Given the description of an element on the screen output the (x, y) to click on. 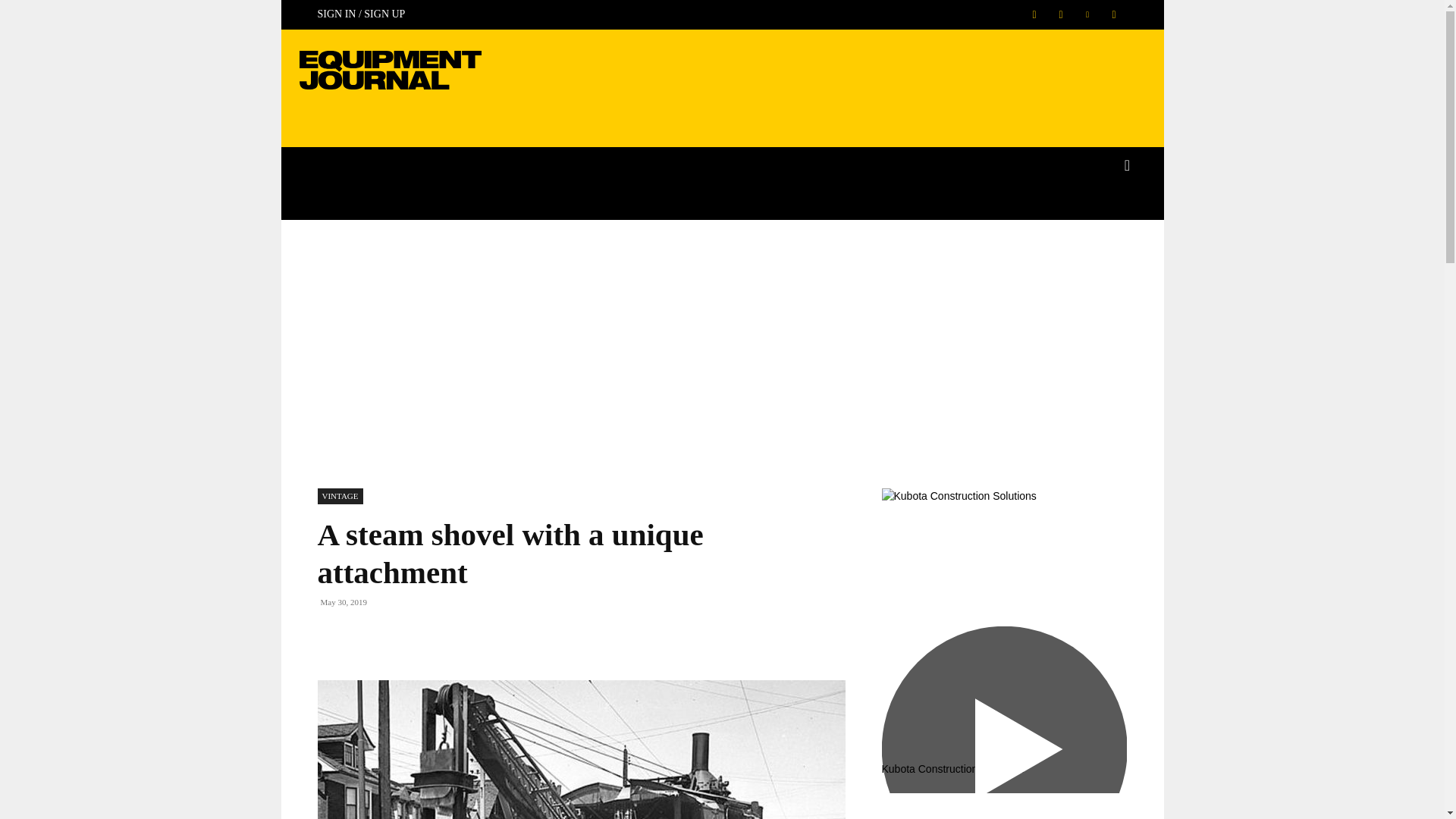
Linkedin (1087, 14)
Twitter (1113, 14)
VINTAGE (339, 496)
Facebook (1033, 14)
Instagram (1061, 14)
